Given the description of an element on the screen output the (x, y) to click on. 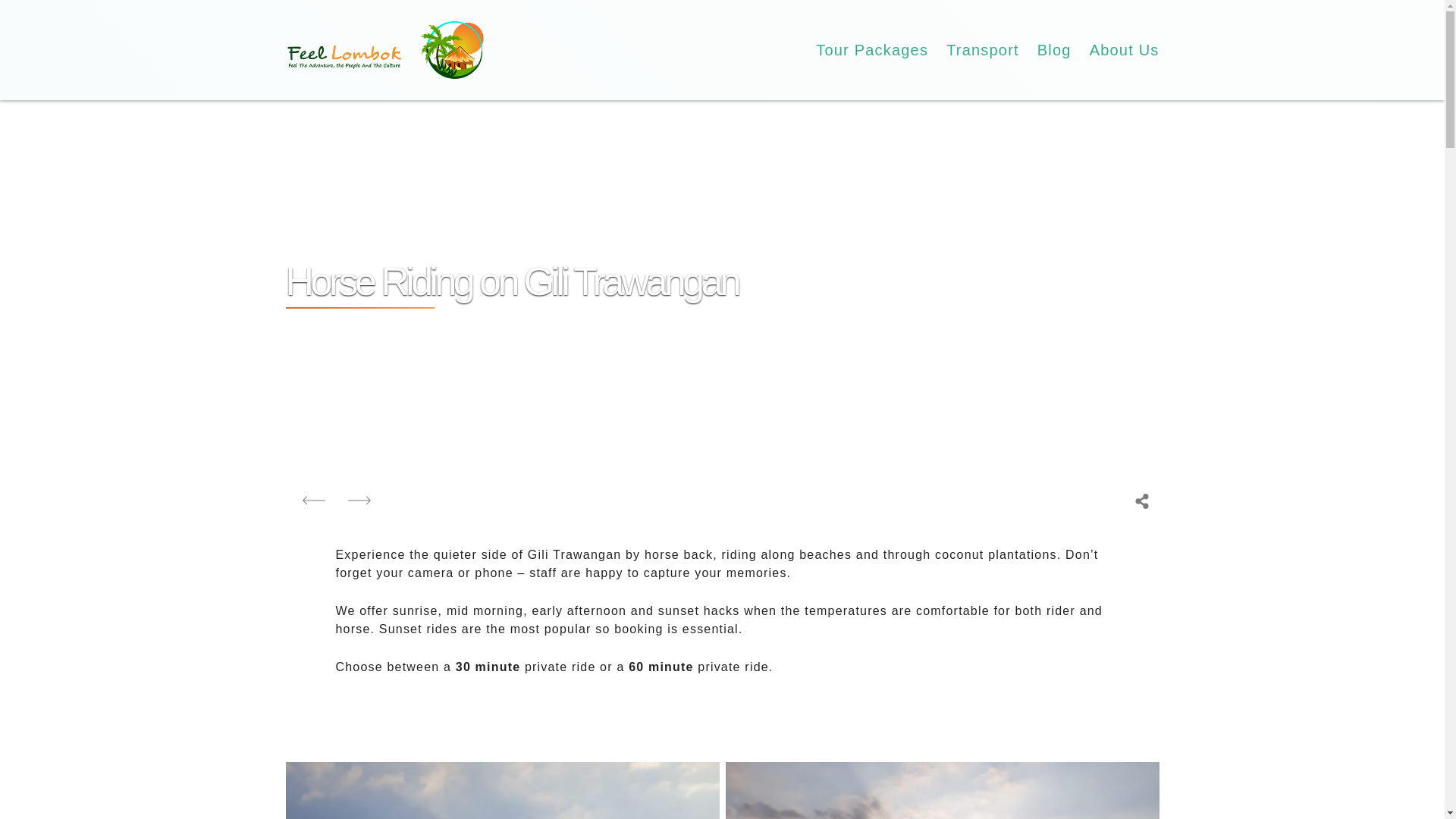
Visit the Transport page (982, 49)
Visit the Tour Packages page (871, 49)
Tour Packages (871, 49)
Transport (982, 49)
Share Horse Riding on Gili Trawangan (1142, 500)
Return to Feel Lombok's home page (384, 49)
Read Coconut Oil Making Workshop, Lombok (313, 500)
